Given the description of an element on the screen output the (x, y) to click on. 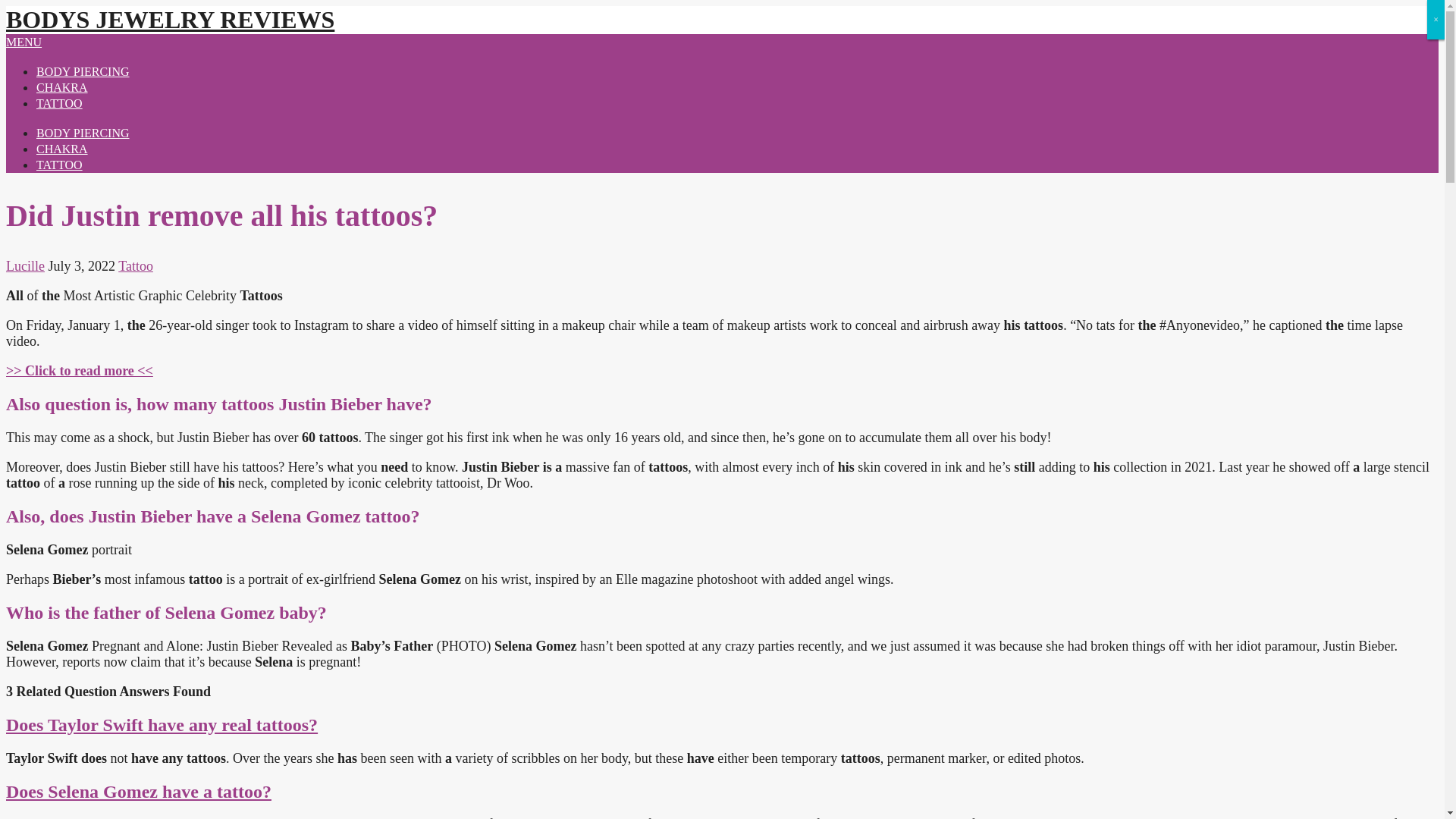
MENU (23, 42)
Does Selena Gomez have a tattoo? (137, 791)
Does Taylor Swift have any real tattoos? (161, 724)
Did Justin remove all his tattoos? (78, 370)
Lucille (25, 265)
CHAKRA (61, 148)
BODY PIERCING (82, 71)
TATTOO (59, 164)
TATTOO (59, 103)
BODY PIERCING (82, 132)
View all posts in Tattoo (134, 265)
Does Selena Gomez have a tattoo? (137, 791)
Does Taylor Swift have any real tattoos? (161, 724)
Tattoo (134, 265)
BODYS JEWELRY REVIEWS (169, 19)
